Given the description of an element on the screen output the (x, y) to click on. 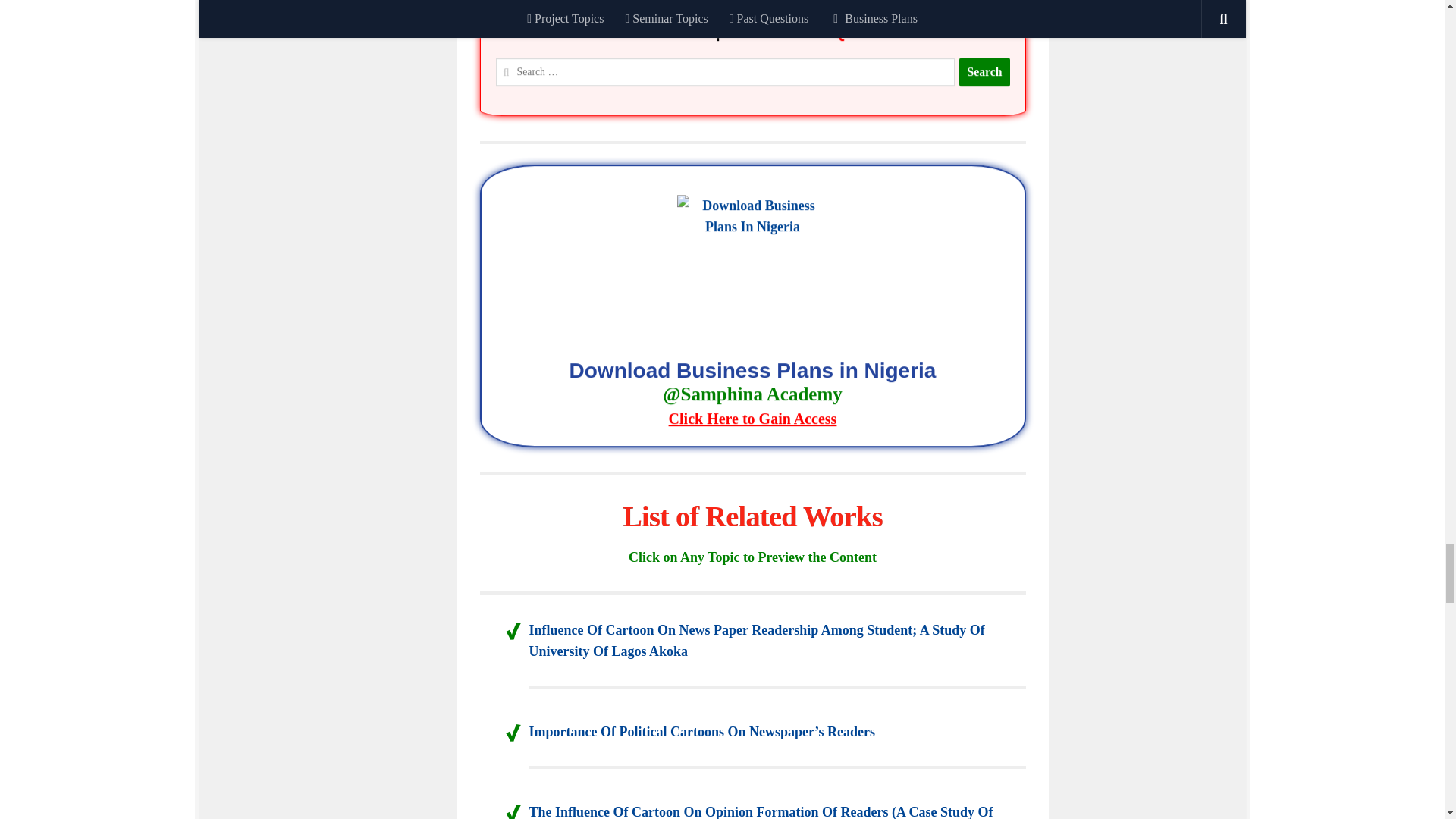
Search (984, 71)
Search (984, 73)
Download Business Plans in Nigeria (752, 397)
Search (984, 72)
